Given the description of an element on the screen output the (x, y) to click on. 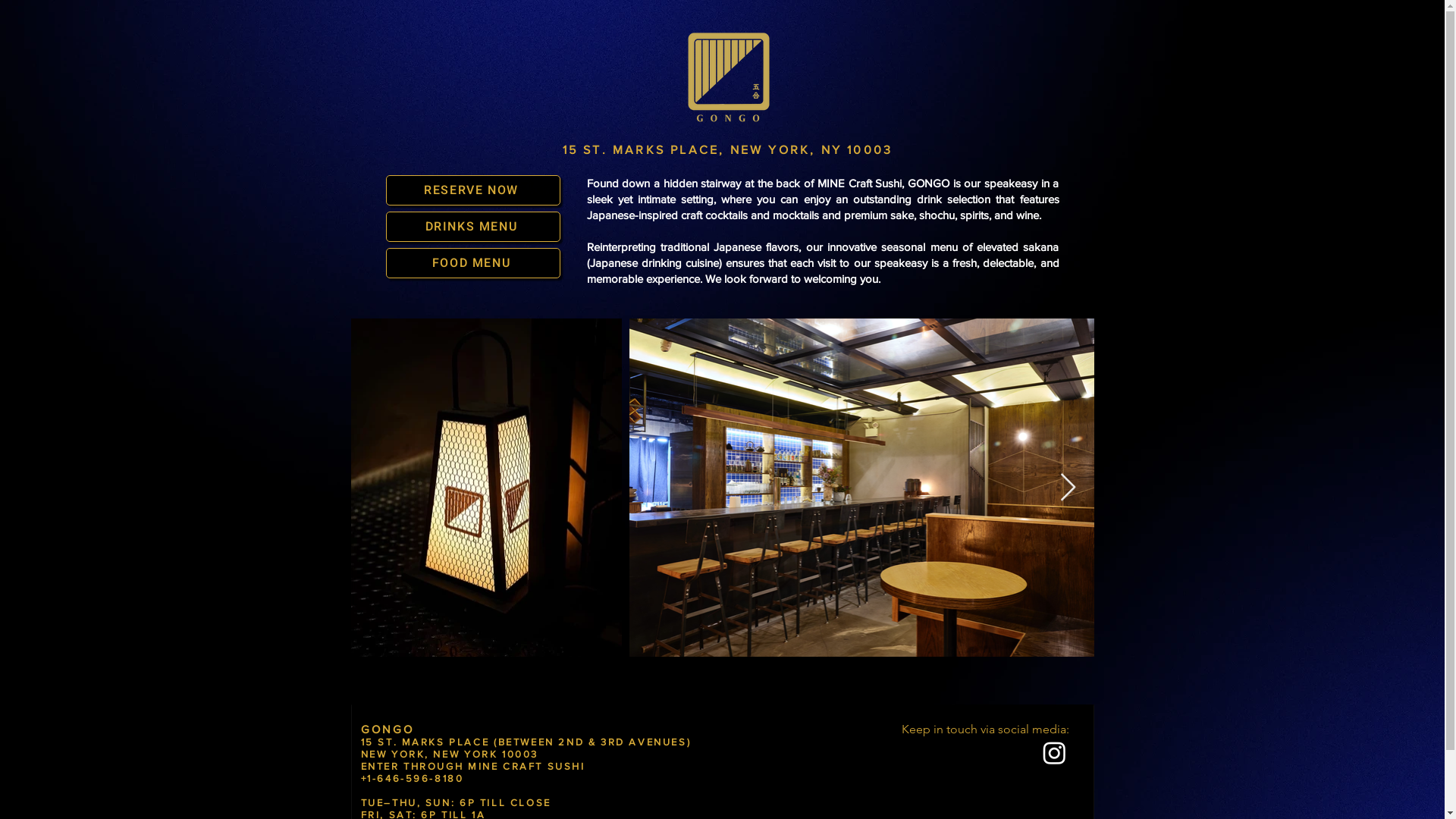
FOOD MENU Element type: text (472, 262)
RESERVE NOW Element type: text (472, 190)
DRINKS MENU Element type: text (472, 226)
